Given the description of an element on the screen output the (x, y) to click on. 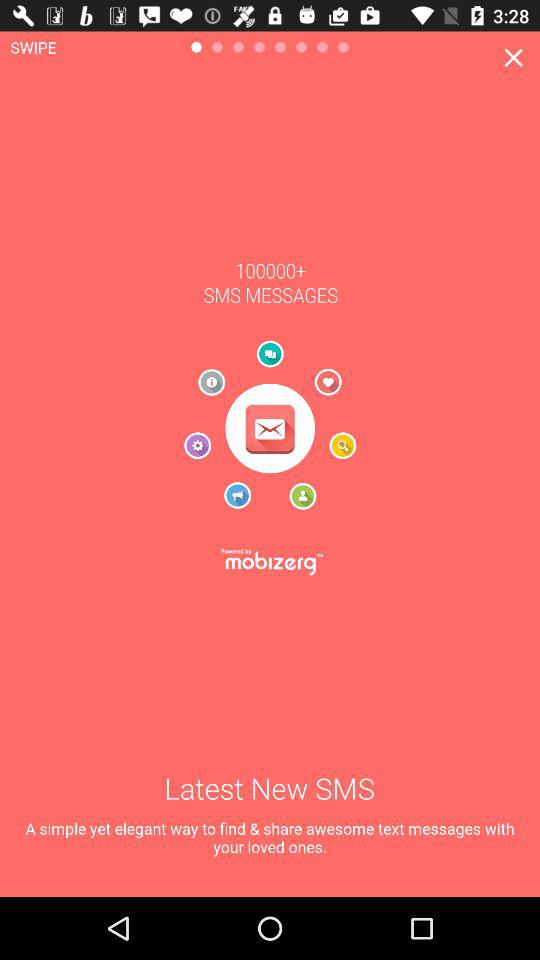
launch item at the top right corner (513, 57)
